Given the description of an element on the screen output the (x, y) to click on. 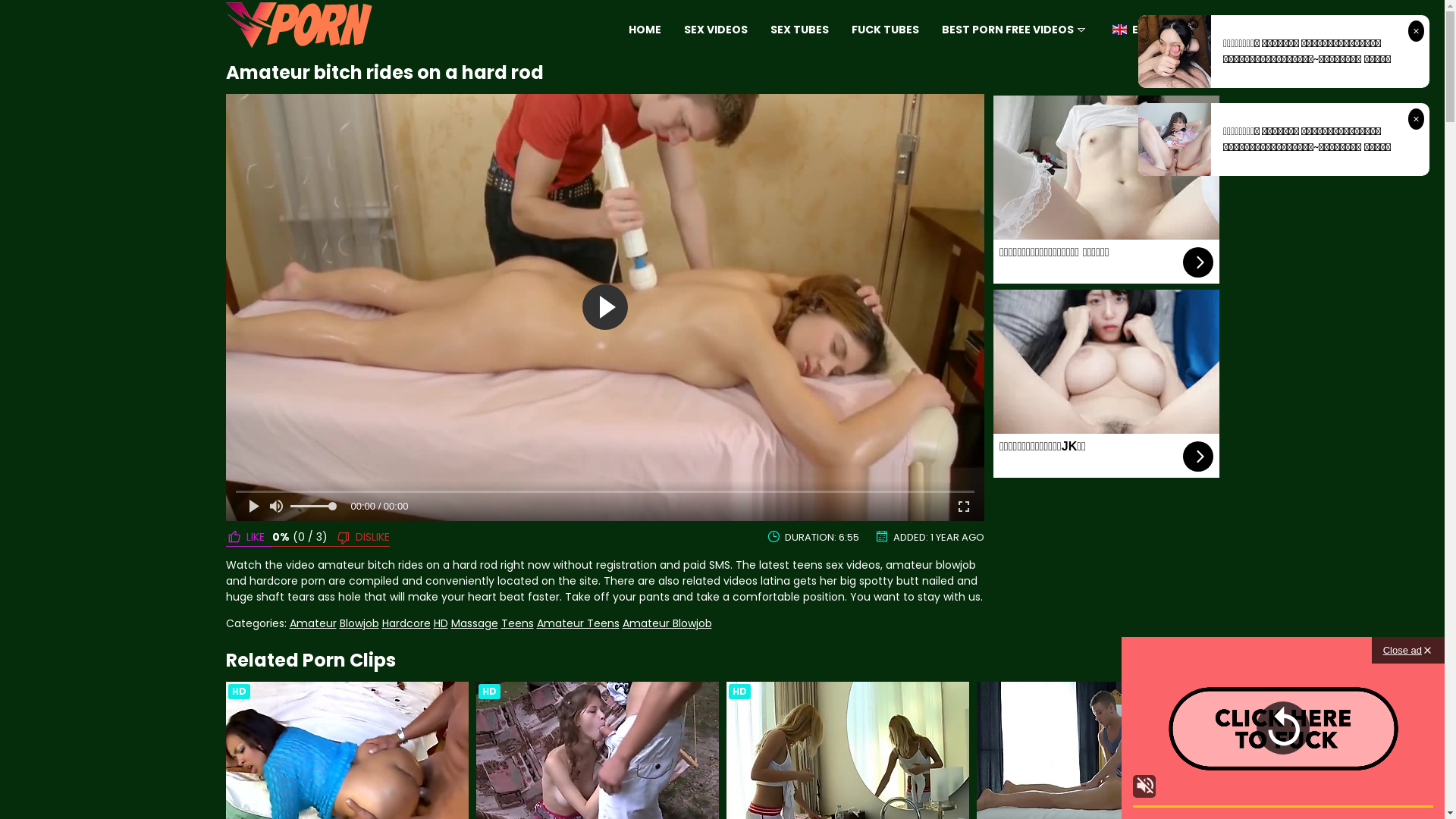
Massage Element type: text (473, 622)
SEX TUBES Element type: text (799, 29)
LIKE Element type: text (248, 536)
SEX VIDEOS Element type: text (715, 29)
Free Porn Tube Element type: hover (299, 29)
DISLIKE Element type: text (358, 536)
Blowjob Element type: text (359, 622)
ENGLISH Element type: text (1143, 29)
Amateur Blowjob Element type: text (666, 622)
Amateur Element type: text (312, 622)
BEST PORN FREE VIDEOS Element type: text (1013, 29)
Amateur Teens Element type: text (577, 622)
FUCK TUBES Element type: text (885, 29)
Teens Element type: text (516, 622)
HD Element type: text (440, 622)
Hardcore Element type: text (406, 622)
HOME Element type: text (644, 29)
